Given the description of an element on the screen output the (x, y) to click on. 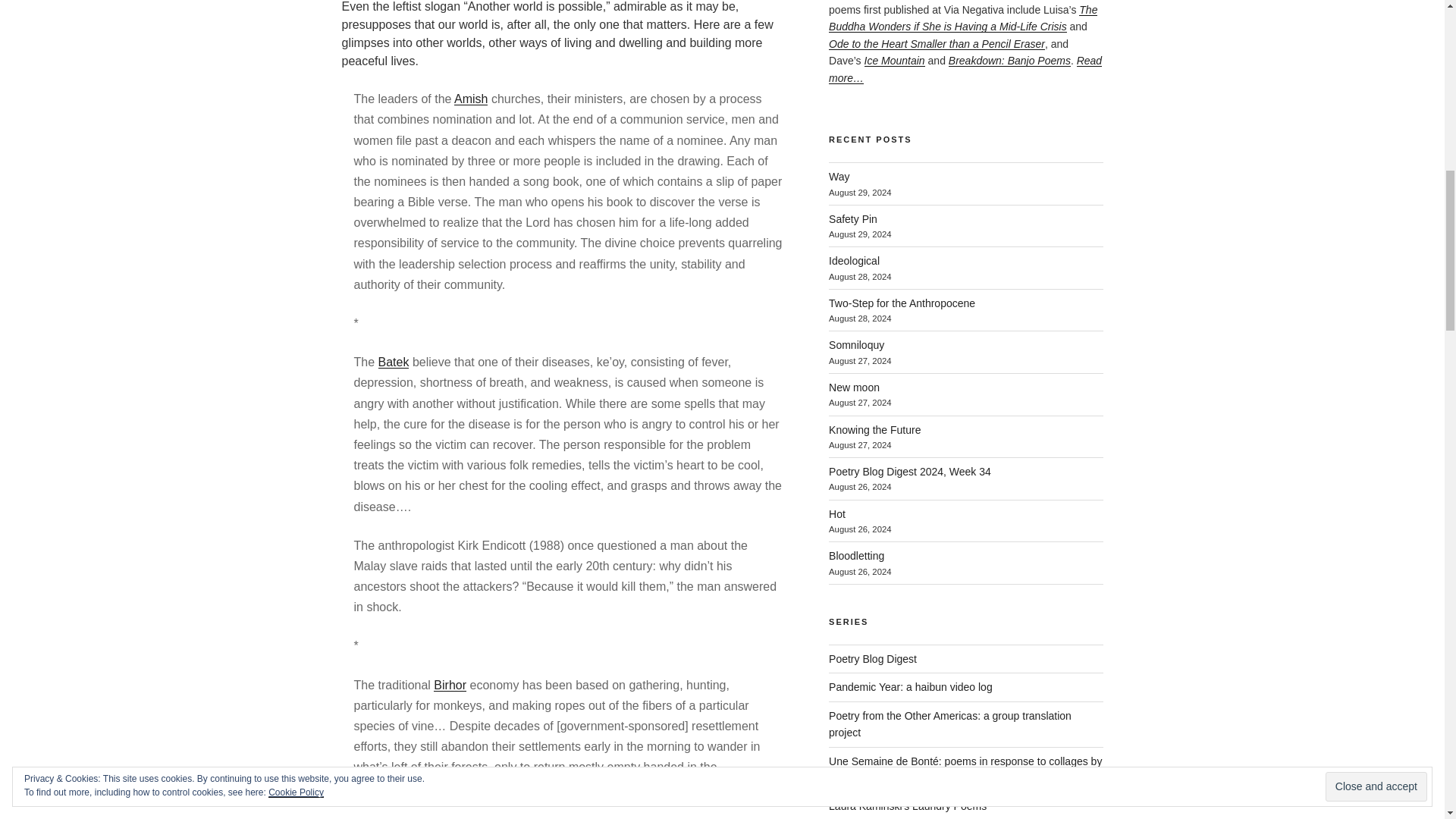
A weekly round-up of links to poetry bloggers (872, 658)
Batek (393, 361)
Amish (470, 98)
new translations of poetry from Latin America (949, 724)
Birhor (449, 684)
Haibun videopoems in response to the COVID-19 pandemic (910, 686)
